Given the description of an element on the screen output the (x, y) to click on. 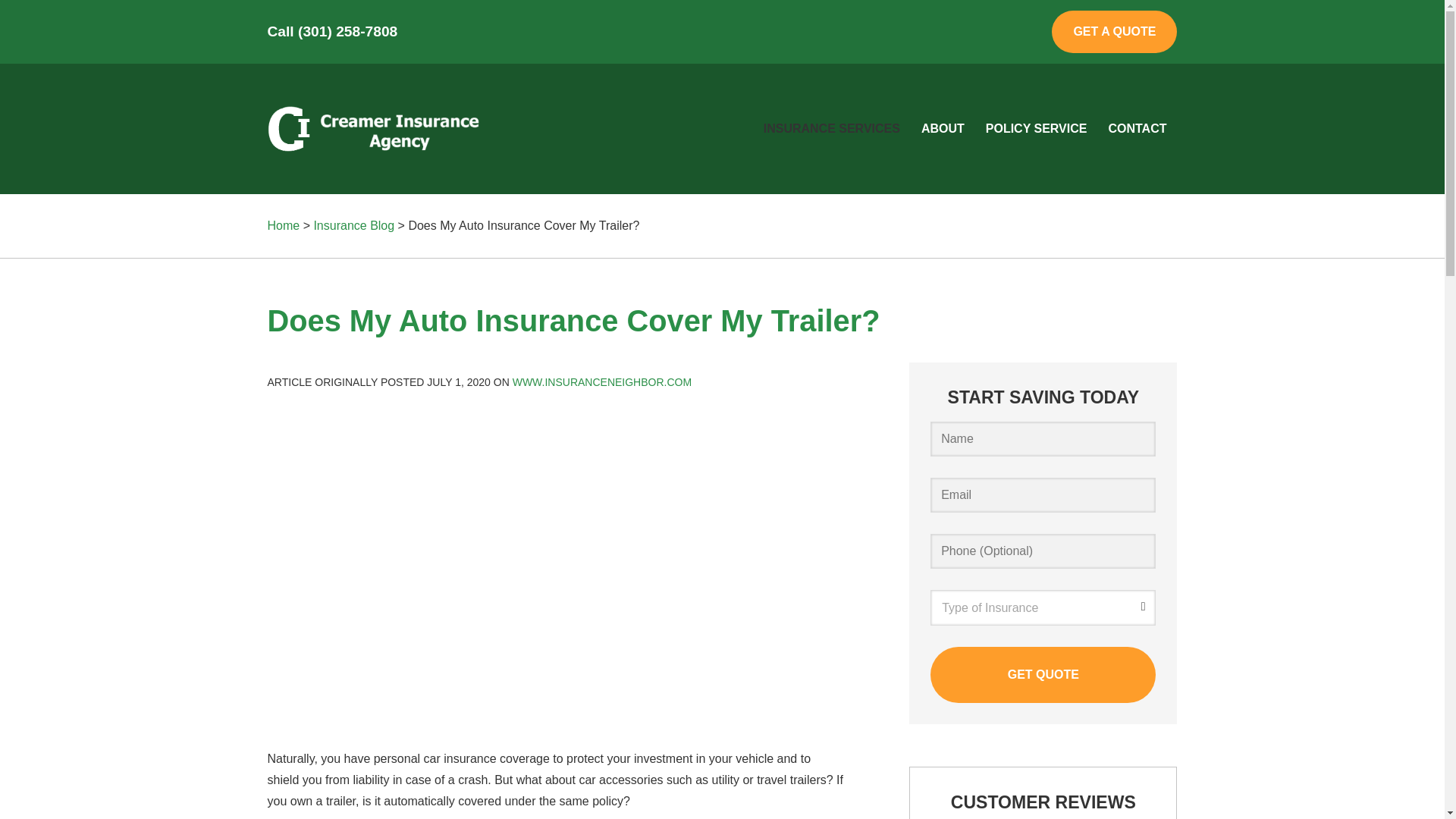
INSURANCE SERVICES (831, 128)
Get Quote (1043, 674)
POLICY SERVICE (1036, 128)
GET A QUOTE (1113, 31)
ABOUT (943, 128)
Logo-Creamer-Insurance-Agency-Rockville-white (372, 128)
